Given the description of an element on the screen output the (x, y) to click on. 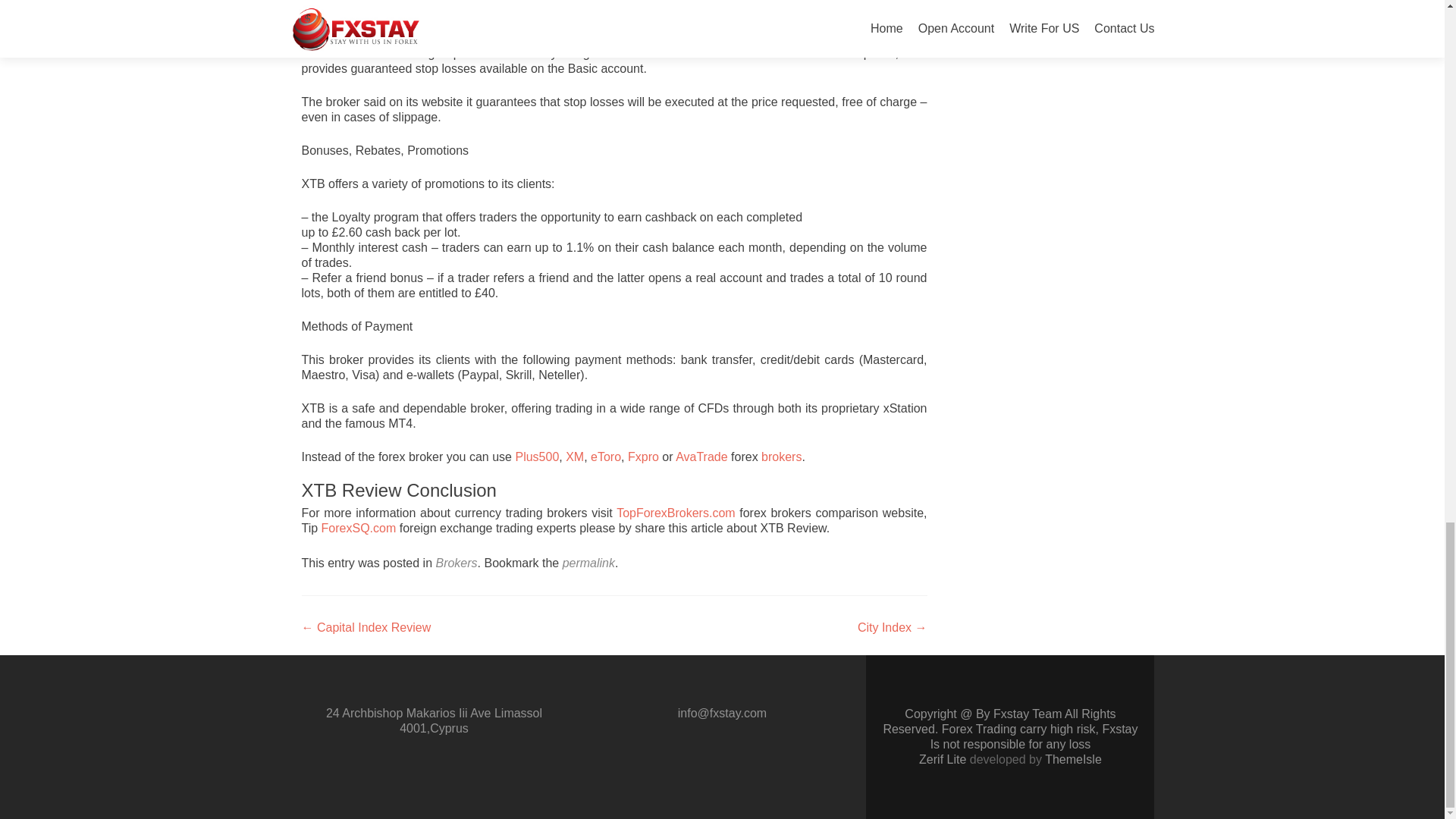
eToro (606, 456)
Plus500 (537, 456)
TopForexBrokers.com (675, 512)
Brokers (456, 562)
ForexSQ.com (358, 527)
XM (574, 456)
ThemeIsle (1073, 758)
permalink (588, 562)
Zerif Lite (943, 758)
brokers (781, 456)
